Given the description of an element on the screen output the (x, y) to click on. 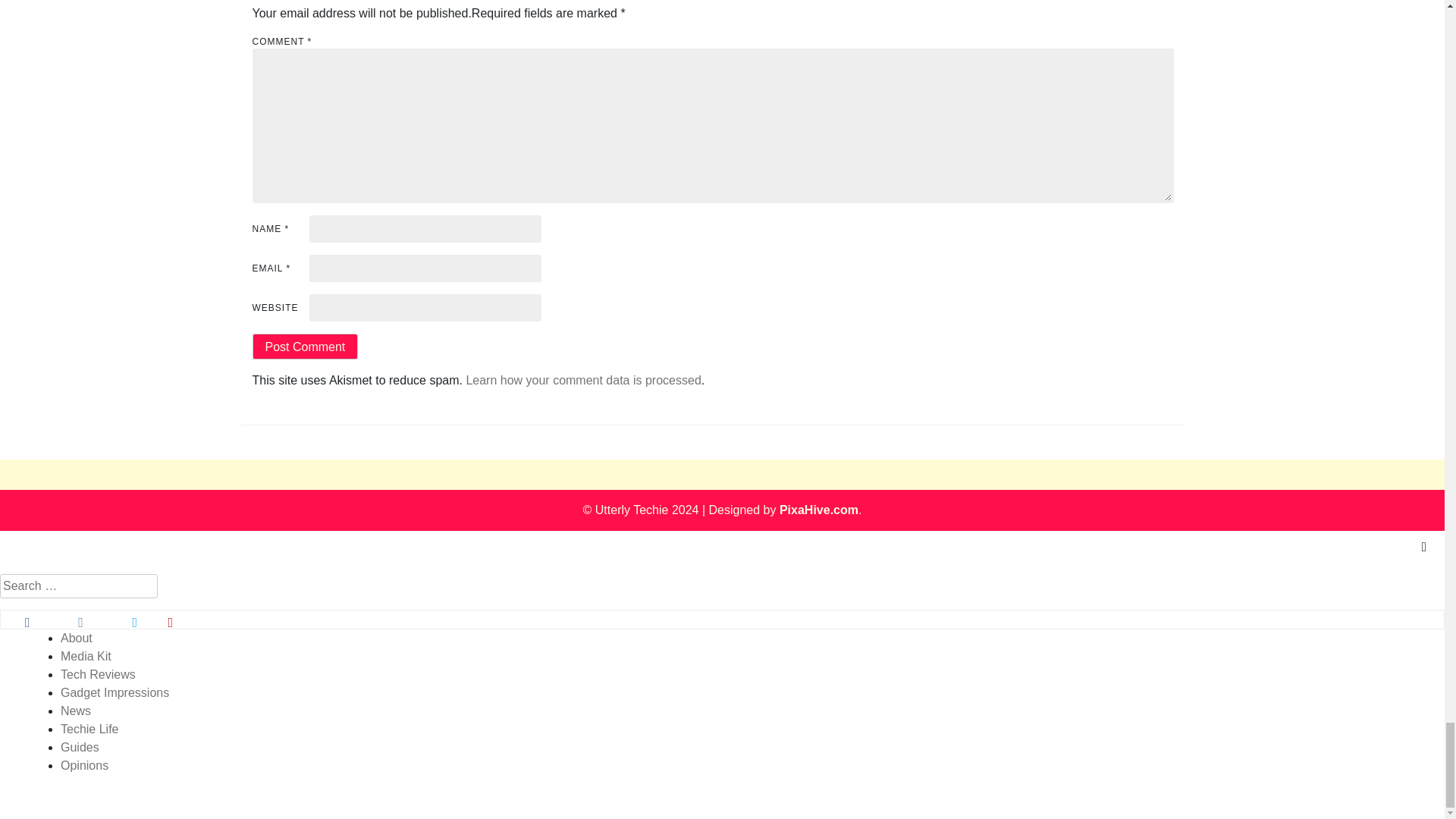
Post Comment (304, 346)
